Given the description of an element on the screen output the (x, y) to click on. 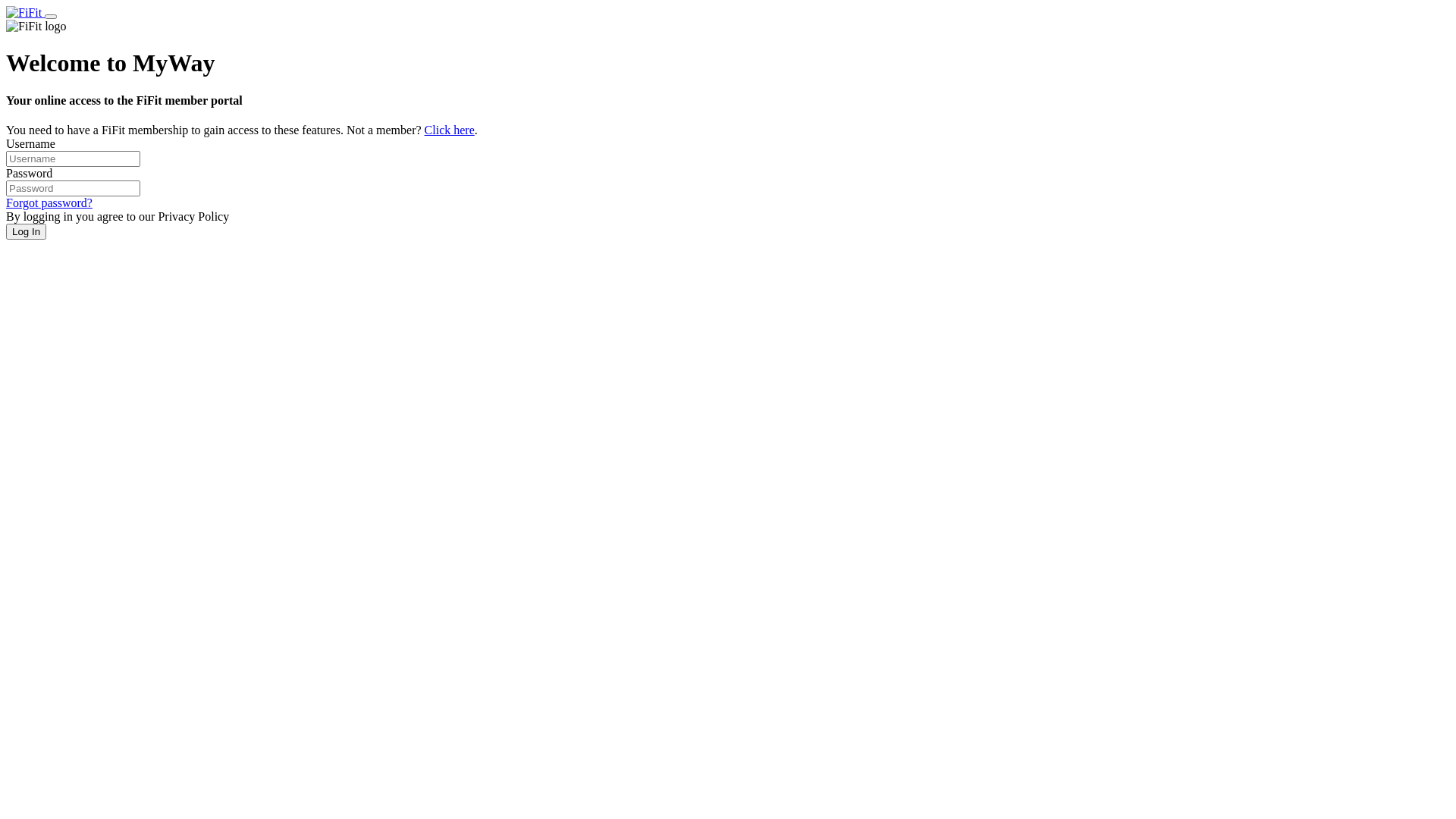
Forgot password? Element type: text (49, 202)
Click here Element type: text (449, 129)
Log In Element type: text (26, 231)
